Given the description of an element on the screen output the (x, y) to click on. 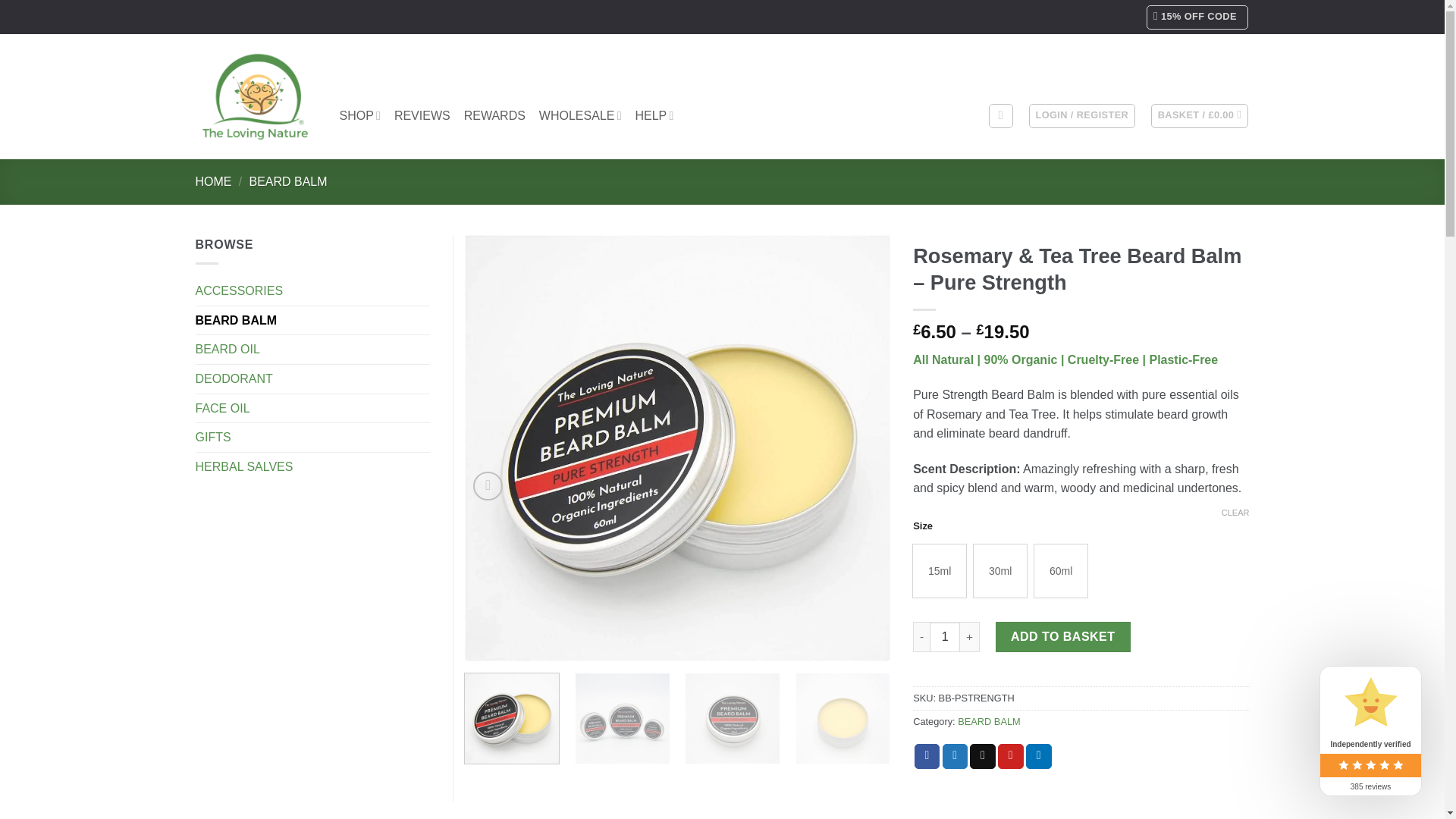
Zoom (487, 486)
Login (1082, 115)
REWARDS (494, 114)
Pin on Pinterest (1010, 756)
Email to a Friend (982, 756)
1 (944, 636)
REVIEWS (421, 114)
Basket (1199, 115)
HELP (653, 115)
WHOLESALE (579, 115)
- (921, 636)
Share on LinkedIn (1038, 756)
Share on Facebook (927, 756)
Share on Twitter (955, 756)
SHOP (359, 115)
